Given the description of an element on the screen output the (x, y) to click on. 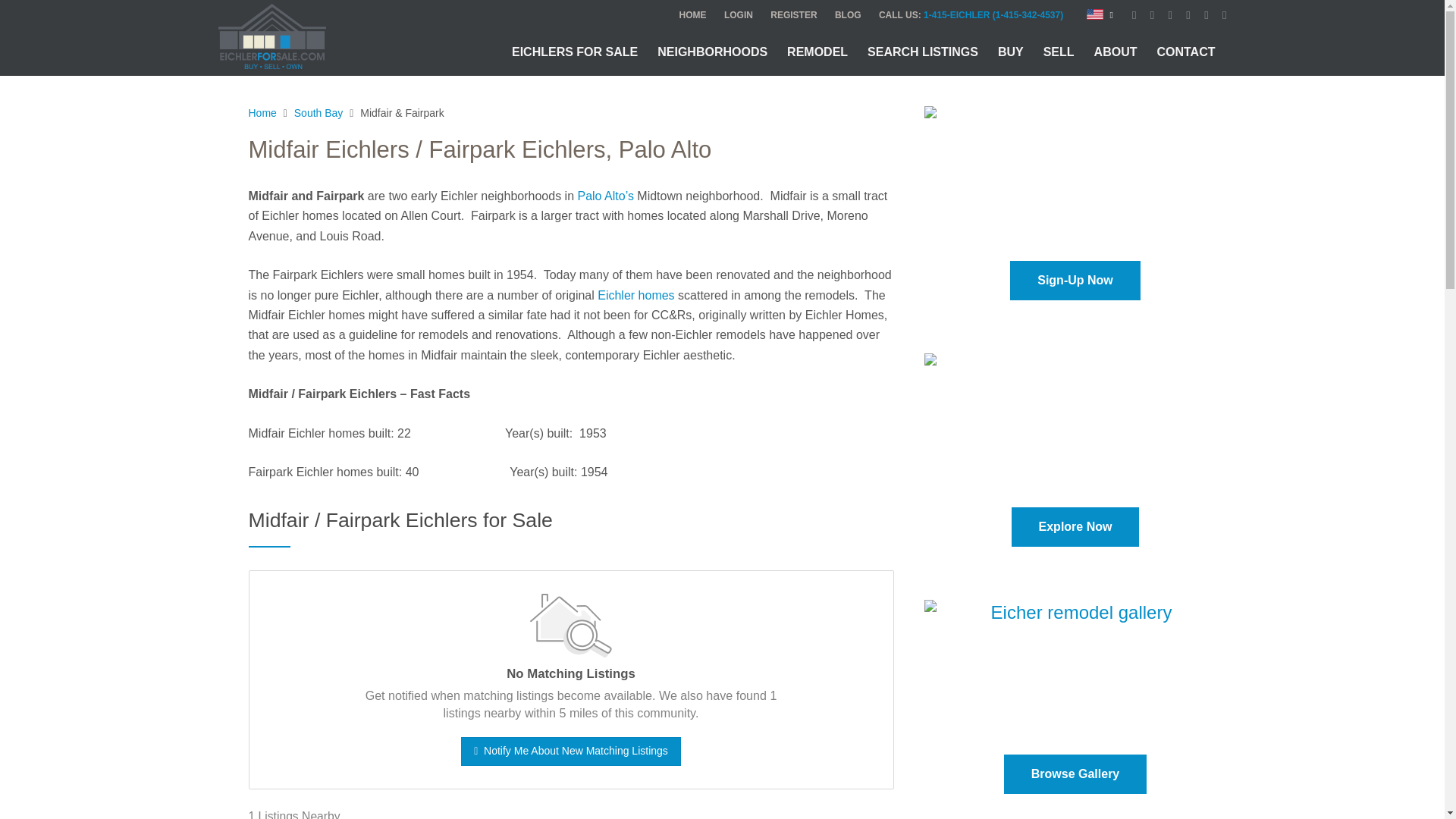
LOGIN (737, 14)
EICHLERS FOR SALE (574, 51)
NEIGHBORHOODS (712, 51)
HOME (692, 14)
REGISTER (793, 14)
BLOG (847, 14)
